Given the description of an element on the screen output the (x, y) to click on. 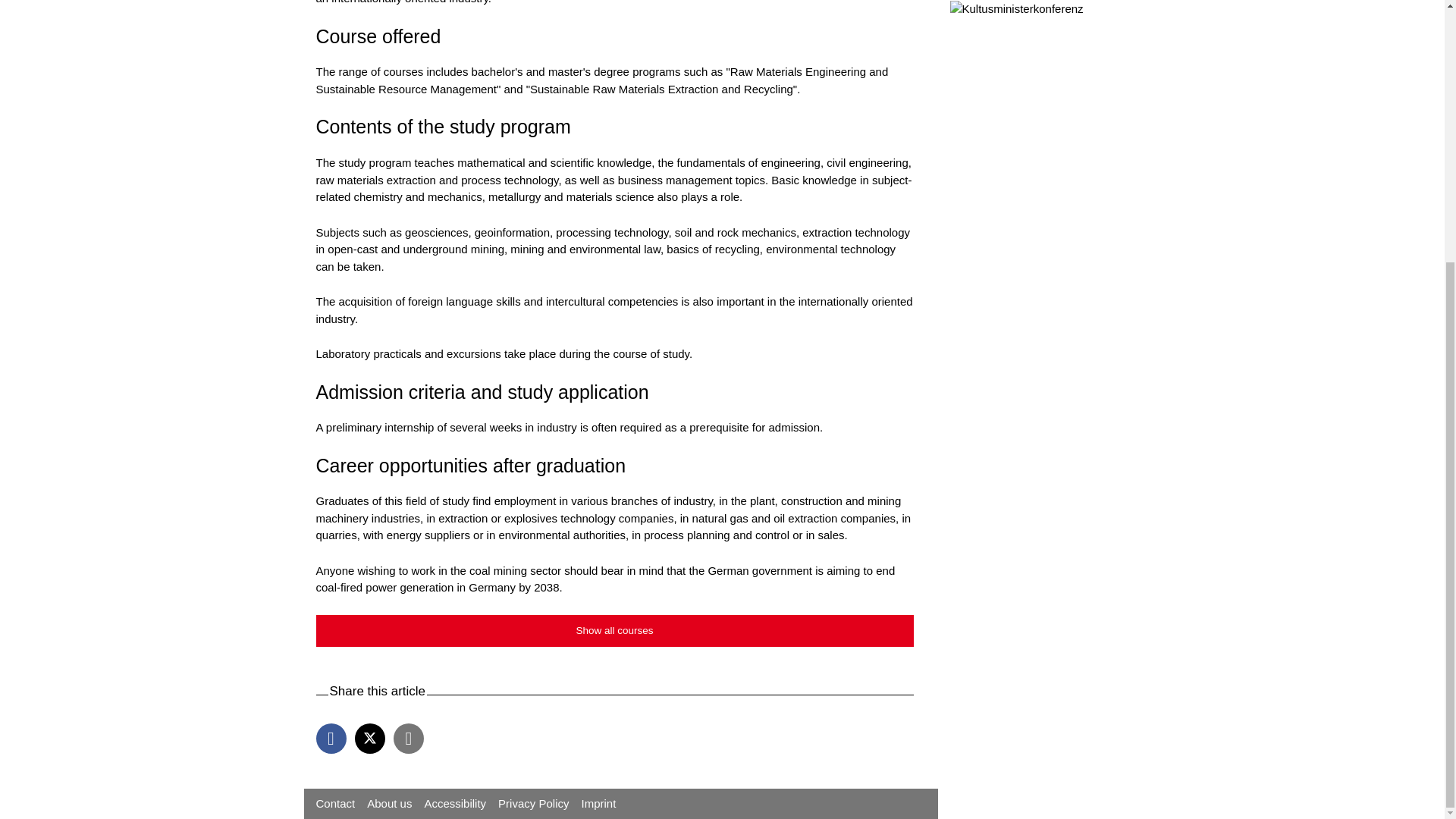
Show all courses (613, 631)
Email (408, 738)
Kultusministerkonferenz (1016, 9)
Facebook (330, 738)
